Given the description of an element on the screen output the (x, y) to click on. 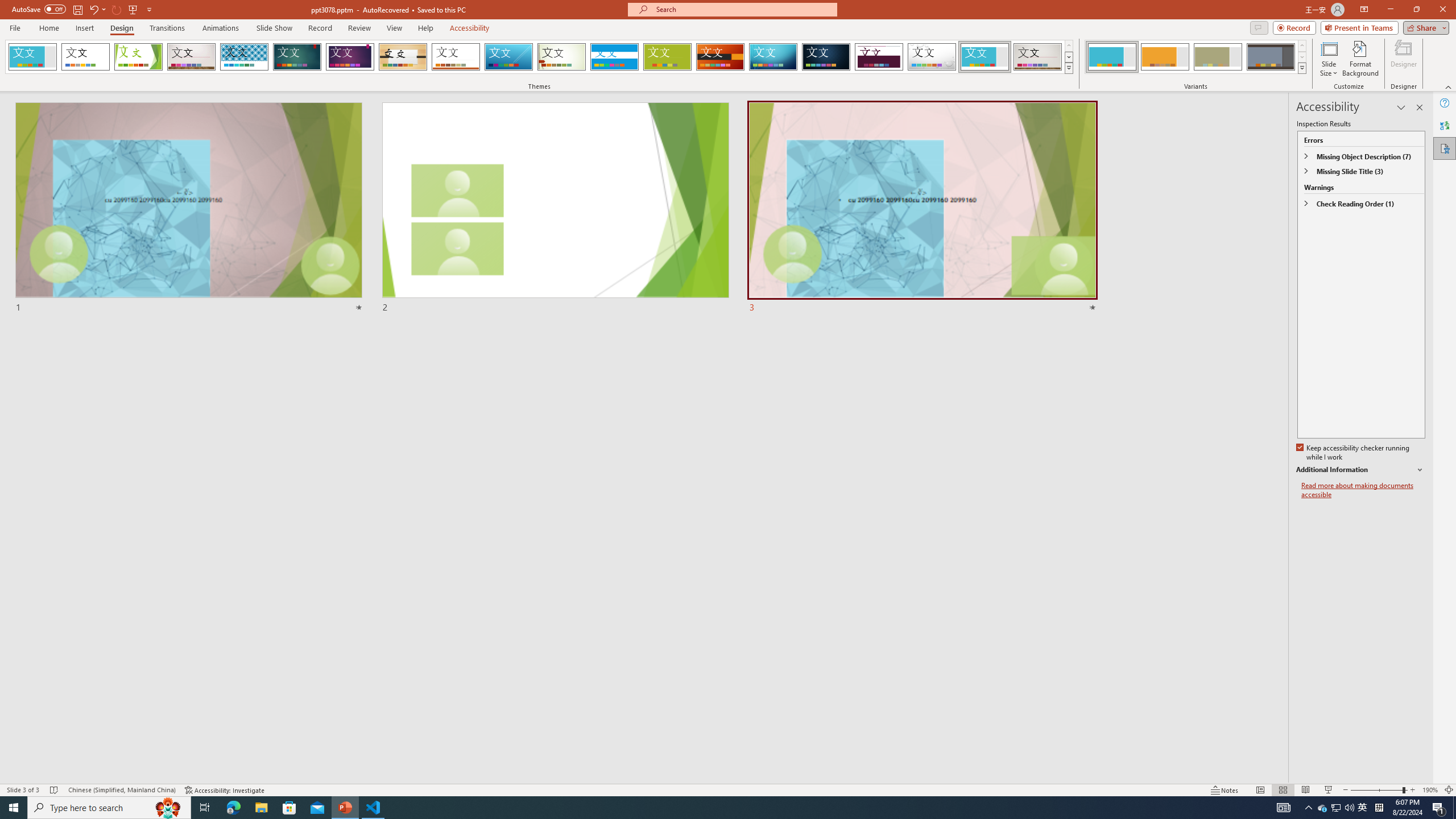
Berlin (720, 56)
Ion (296, 56)
Integral (244, 56)
Wisp (561, 56)
Dividend (879, 56)
